Given the description of an element on the screen output the (x, y) to click on. 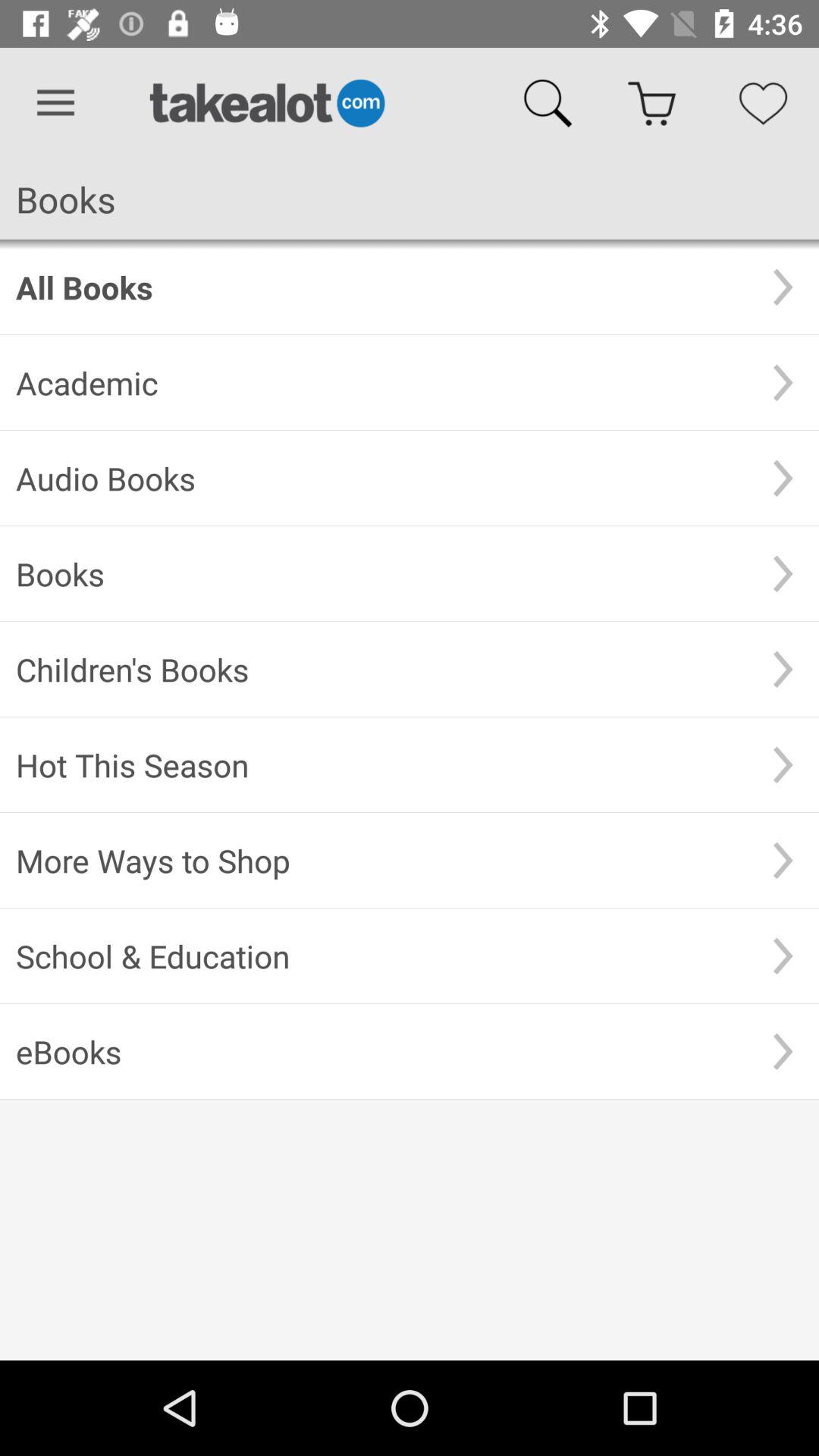
swipe until hot this season icon (381, 764)
